Given the description of an element on the screen output the (x, y) to click on. 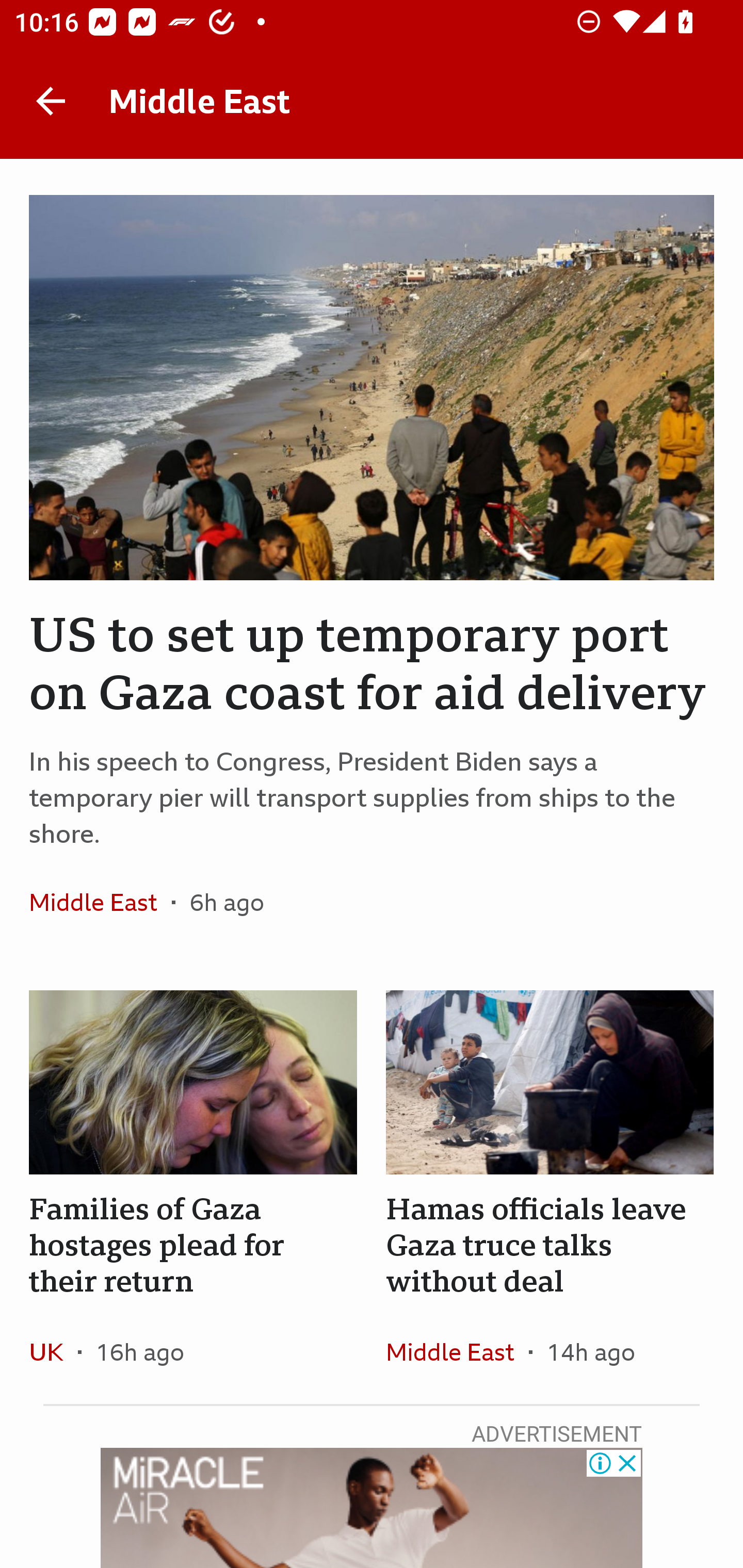
Back (50, 101)
Middle East In the section Middle East (99, 901)
UK In the section UK (53, 1351)
Middle East In the section Middle East (457, 1351)
